Given the description of an element on the screen output the (x, y) to click on. 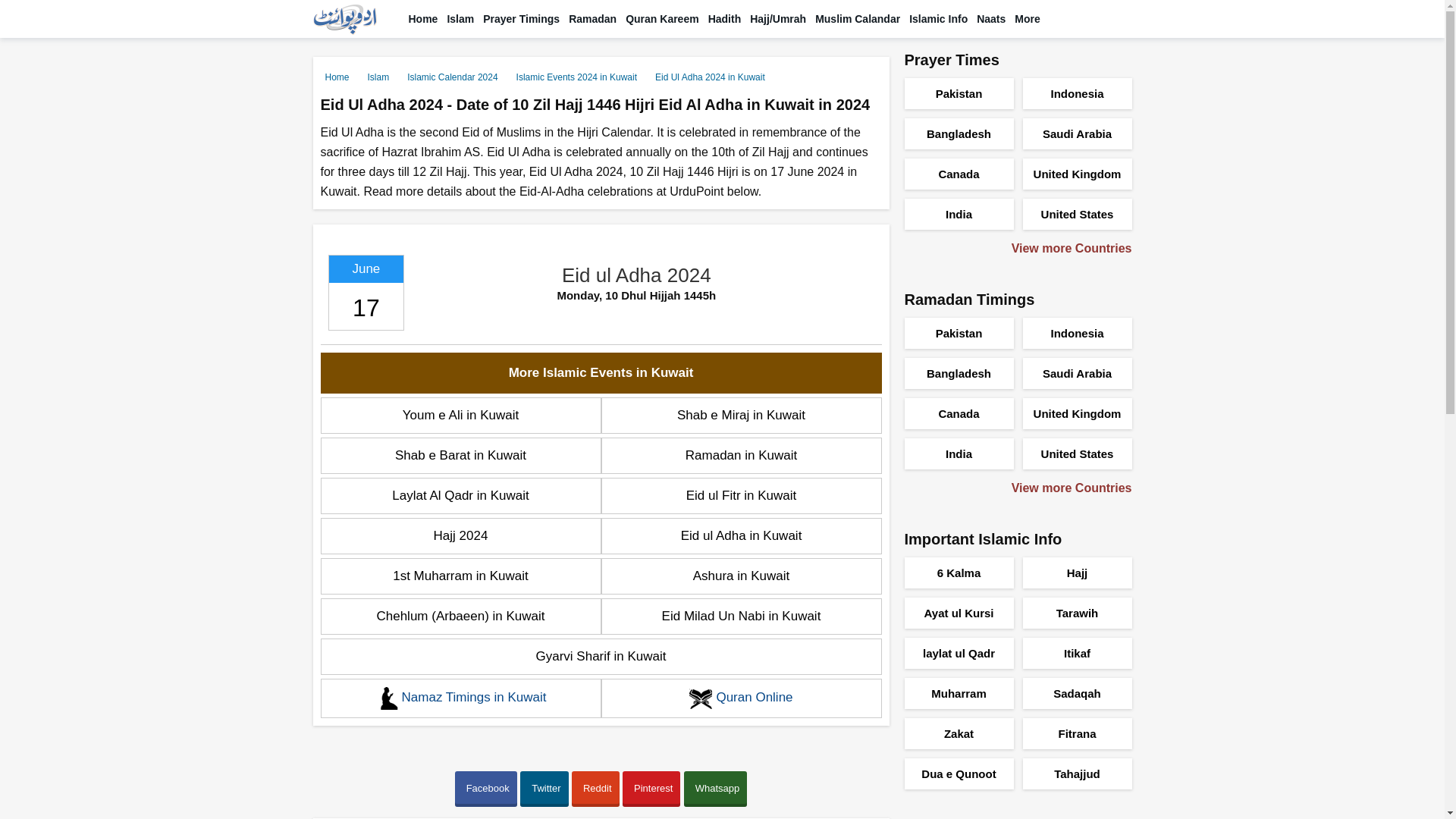
Hadith (724, 18)
Home (422, 18)
Ramadan (592, 18)
Ramadan (592, 18)
Islam Home (460, 18)
Prayer Timings (521, 18)
Quran Kareem (662, 18)
Namaz (521, 18)
Islam (460, 18)
Urdu Point Home (422, 18)
